Given the description of an element on the screen output the (x, y) to click on. 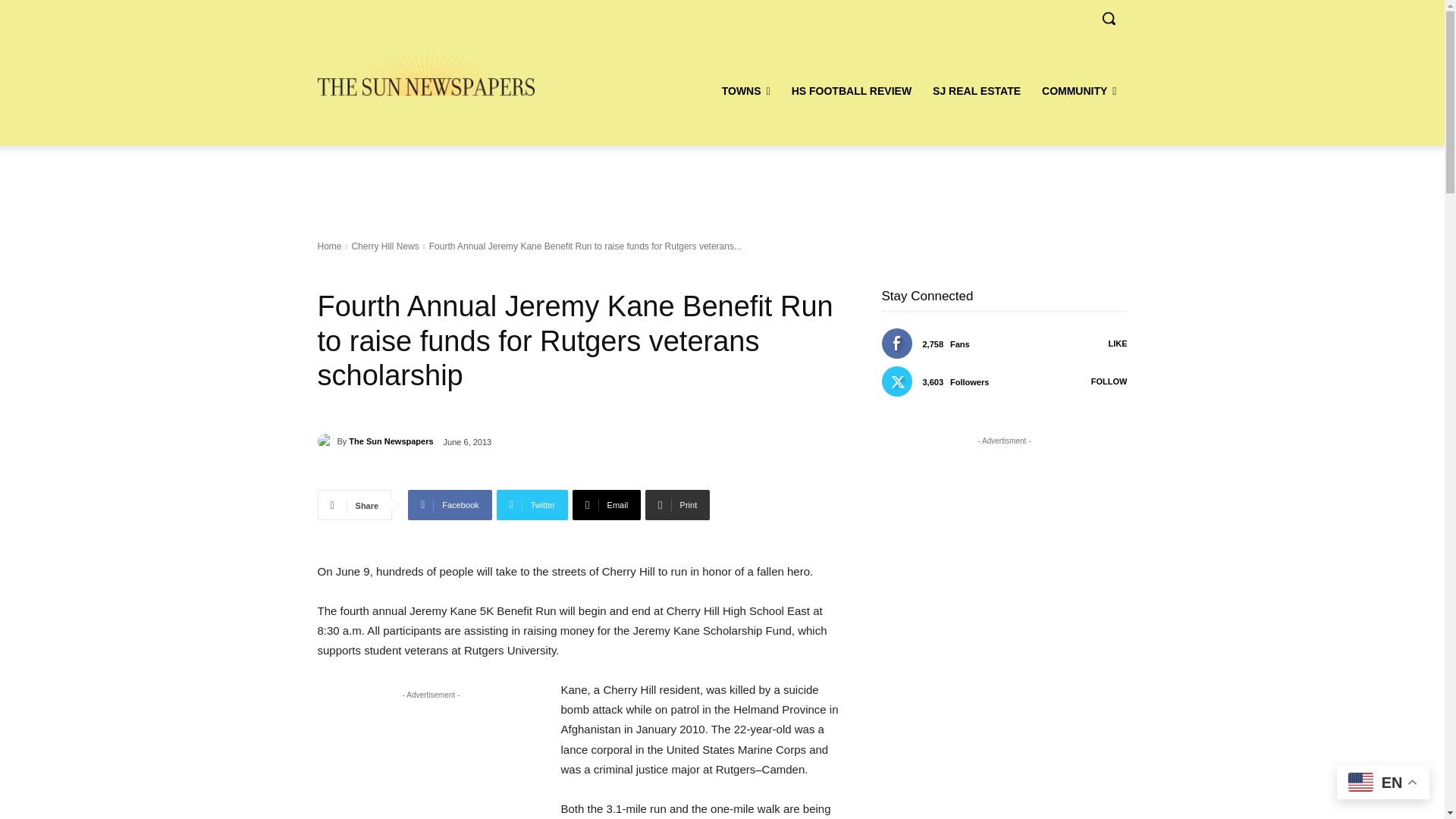
Print (677, 504)
3rd party ad content (721, 183)
View all posts in Cherry Hill News (384, 245)
The Sun Newspapers (326, 441)
3rd party ad content (430, 763)
Facebook (449, 504)
Email (606, 504)
Twitter (532, 504)
